Given the description of an element on the screen output the (x, y) to click on. 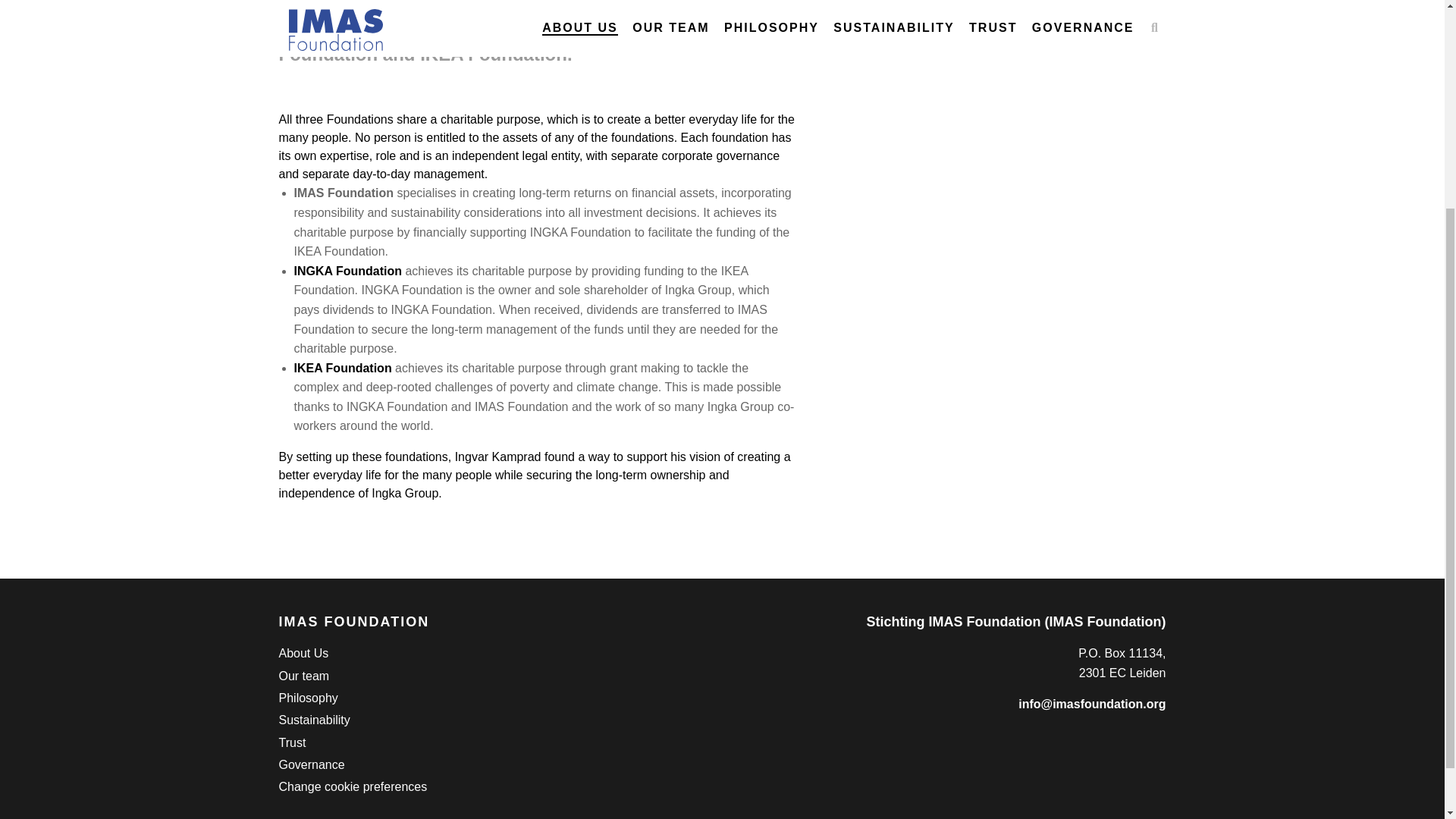
Sustainability (314, 720)
Change cookie preferences (353, 786)
INGKA Foundation (348, 270)
Philosophy (308, 698)
About Us (304, 653)
Trust (292, 742)
IKEA Foundation (345, 367)
Our team (304, 676)
Governance (312, 764)
